Given the description of an element on the screen output the (x, y) to click on. 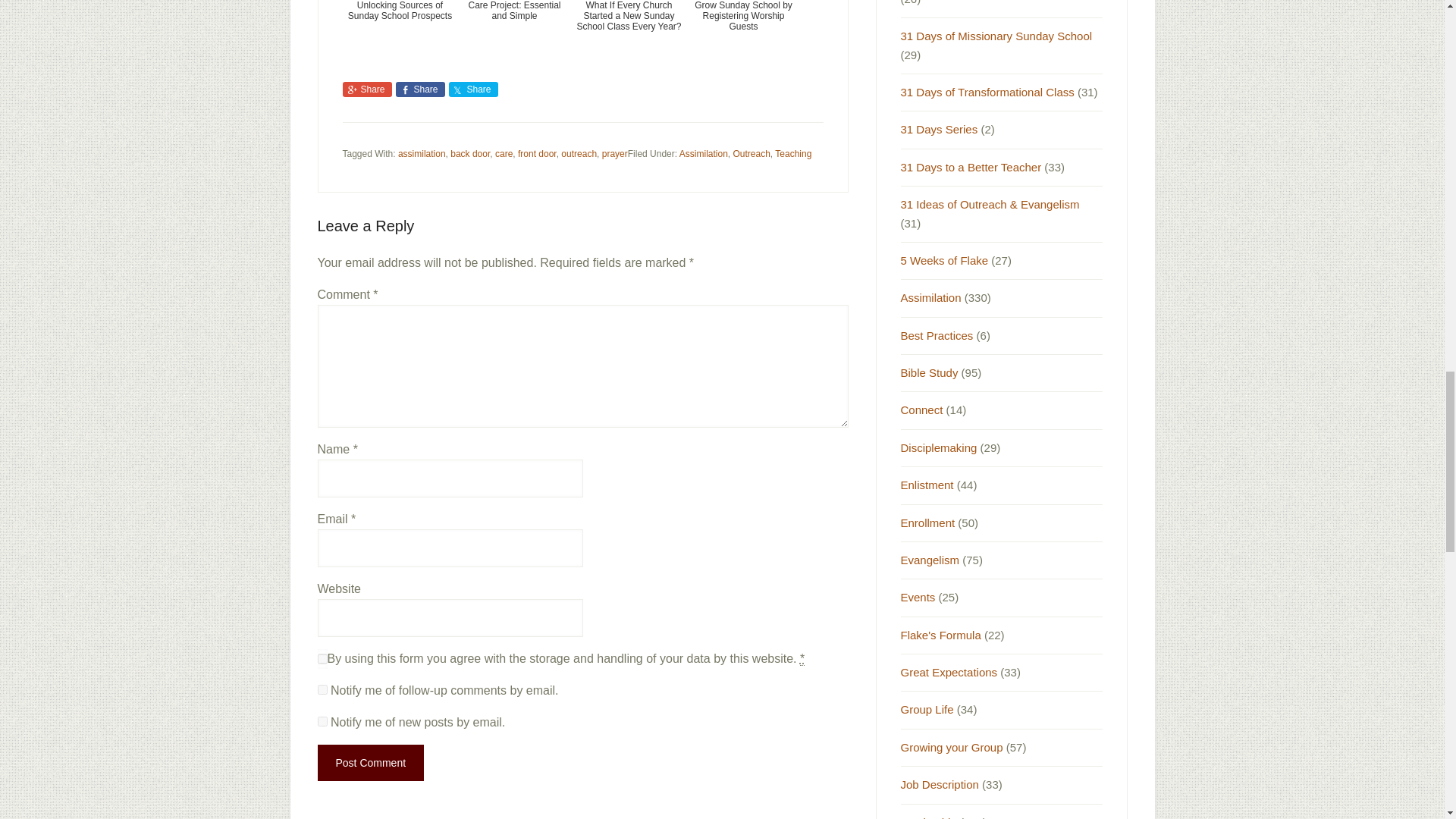
Post Comment (370, 762)
Teaching (792, 153)
Share (420, 89)
Post Comment (370, 762)
outreach (578, 153)
back door (469, 153)
Assimilation (703, 153)
Grow Sunday School by Registering Worship Guests (742, 29)
assimilation (421, 153)
care (503, 153)
subscribe (321, 721)
Outreach (751, 153)
prayer (614, 153)
front door (537, 153)
